Given the description of an element on the screen output the (x, y) to click on. 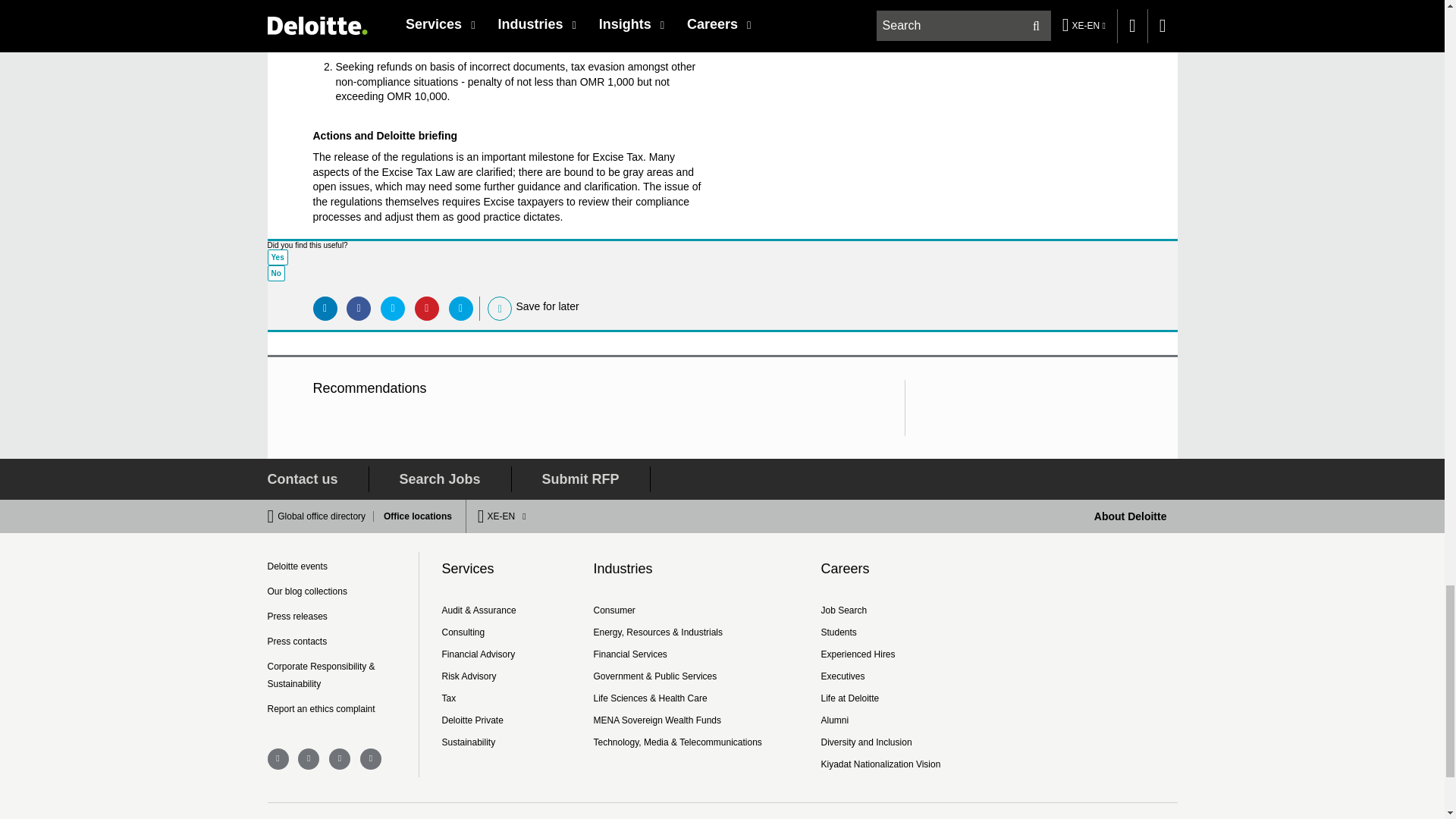
Share on LinkedIn (324, 308)
Share on Facebook (358, 308)
Share by email (460, 308)
Share on Twitter (392, 308)
Global office directory (326, 516)
Save for later (499, 308)
Share on Pinterest (426, 308)
